Given the description of an element on the screen output the (x, y) to click on. 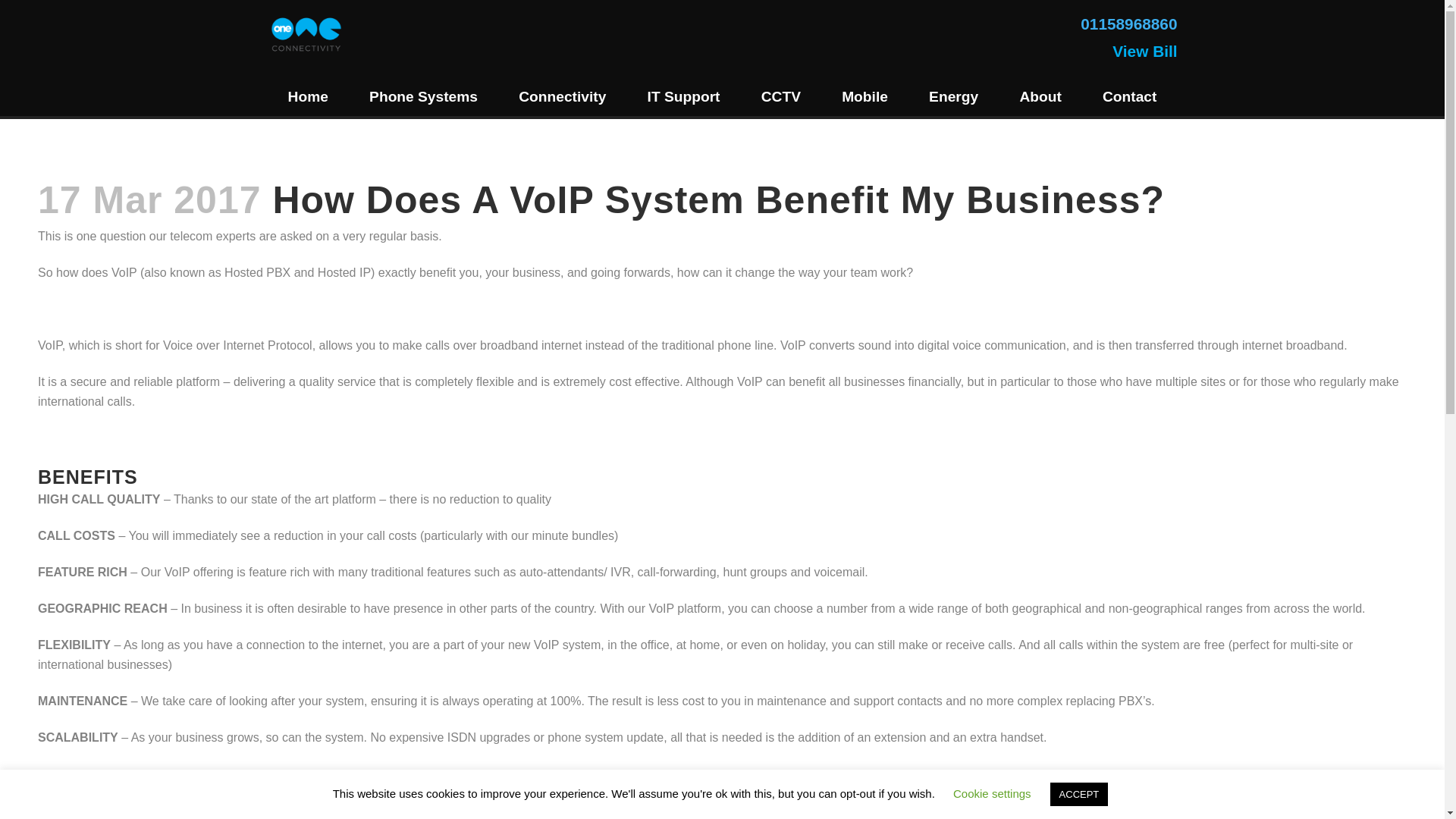
Energy (953, 96)
IT Support (682, 96)
Home (307, 96)
About (1039, 96)
Connectivity (561, 96)
CCTV (781, 96)
Mobile (864, 96)
Phone Systems (423, 96)
View Bill (1144, 51)
Contact (1129, 96)
